Given the description of an element on the screen output the (x, y) to click on. 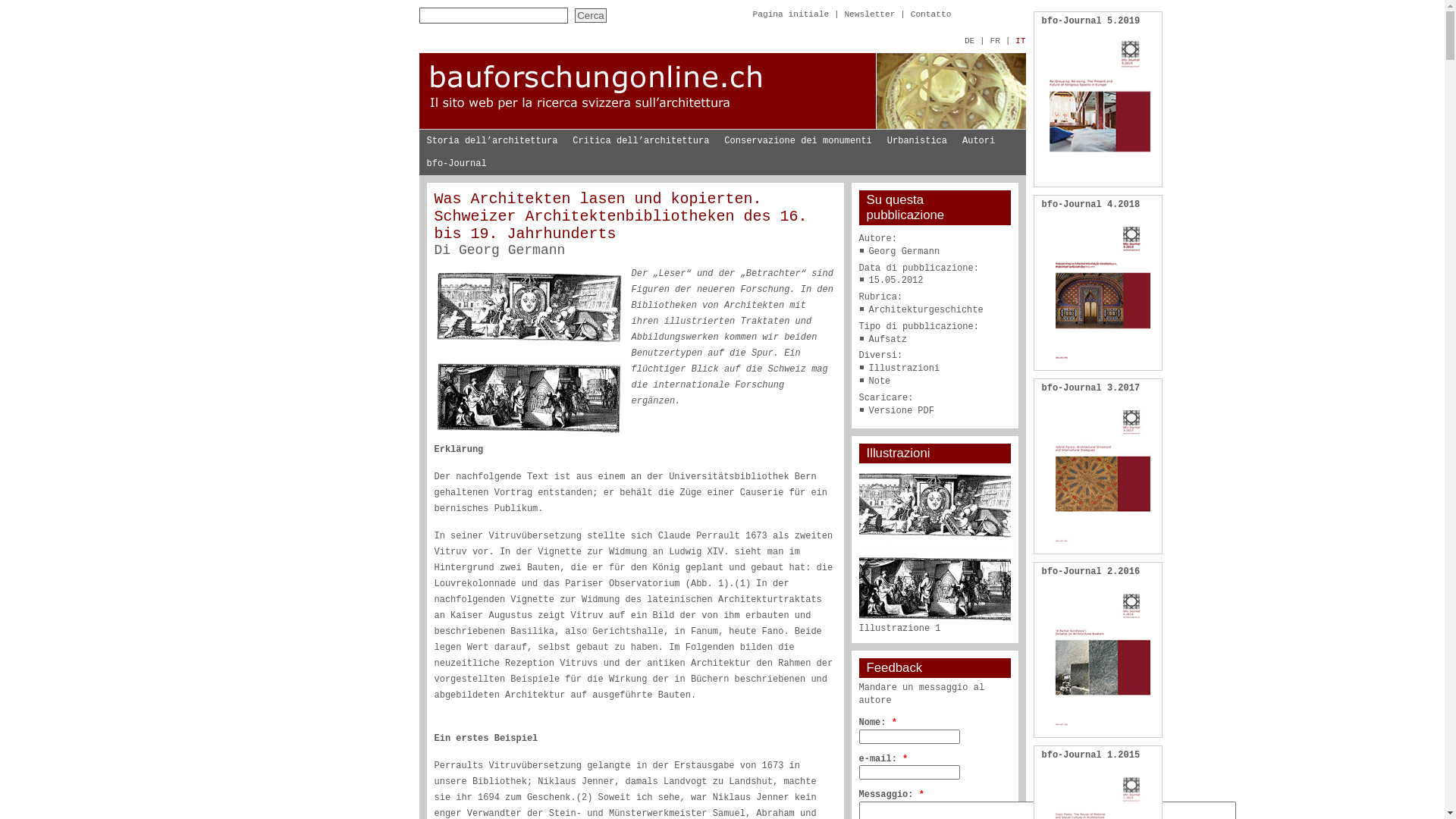
bfo-Journal 3.2017 Element type: text (1090, 387)
bfo-Journal 4.2018 Element type: text (1090, 204)
bfo-Journal 1.2015 Element type: text (1090, 754)
IT Element type: text (1020, 40)
Home Element type: hover (721, 126)
Illustrazioni Element type: text (904, 368)
bfo-Journal Element type: text (455, 163)
Urbanistica Element type: text (916, 140)
bfo-Journal 2.2016 Element type: text (1090, 571)
Georg Germann Element type: text (511, 249)
Note Element type: text (880, 381)
bfo-Journal 5.2019 Element type: text (1090, 20)
Architekturgeschichte Element type: text (926, 309)
Georg Germann Element type: text (904, 251)
FR Element type: text (994, 40)
Conservazione dei monumenti Element type: text (797, 140)
Inserisci i termini da cercare. Element type: hover (492, 15)
Cerca Element type: text (590, 15)
DE Element type: text (969, 40)
Aufsatz Element type: text (887, 339)
Contatto Element type: text (930, 13)
Newsletter Element type: text (869, 13)
Pagina initiale Element type: text (790, 13)
Autori Element type: text (978, 140)
Versione PDF Element type: text (901, 410)
